Given the description of an element on the screen output the (x, y) to click on. 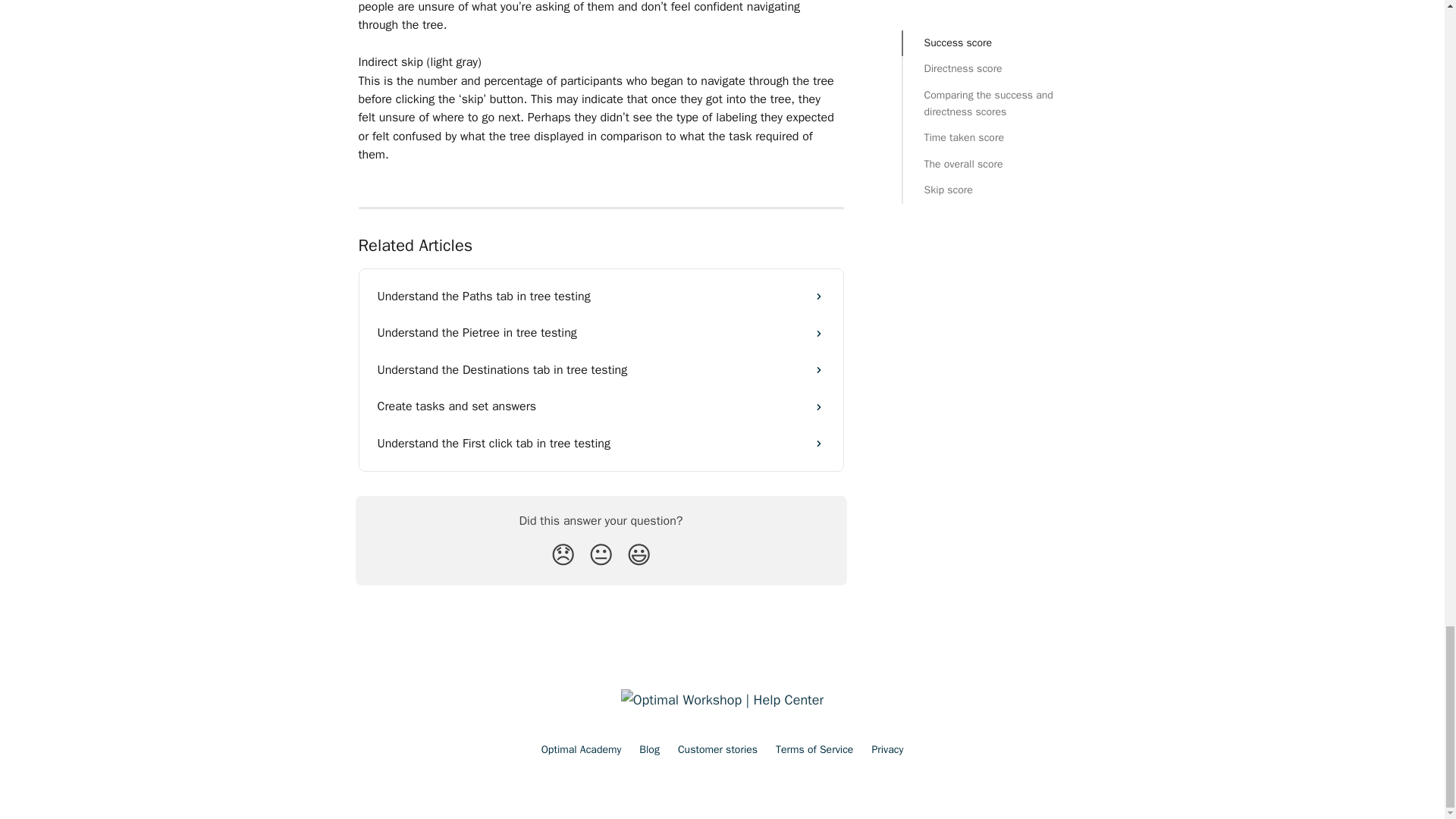
Privacy (886, 748)
Create tasks and set answers (601, 406)
Terms of Service (814, 748)
Understand the First click tab in tree testing (601, 443)
Understand the Paths tab in tree testing (601, 296)
Optimal Academy (581, 748)
Understand the Pietree in tree testing (601, 332)
Customer stories (717, 748)
Understand the Destinations tab in tree testing (601, 370)
Blog (649, 748)
